Given the description of an element on the screen output the (x, y) to click on. 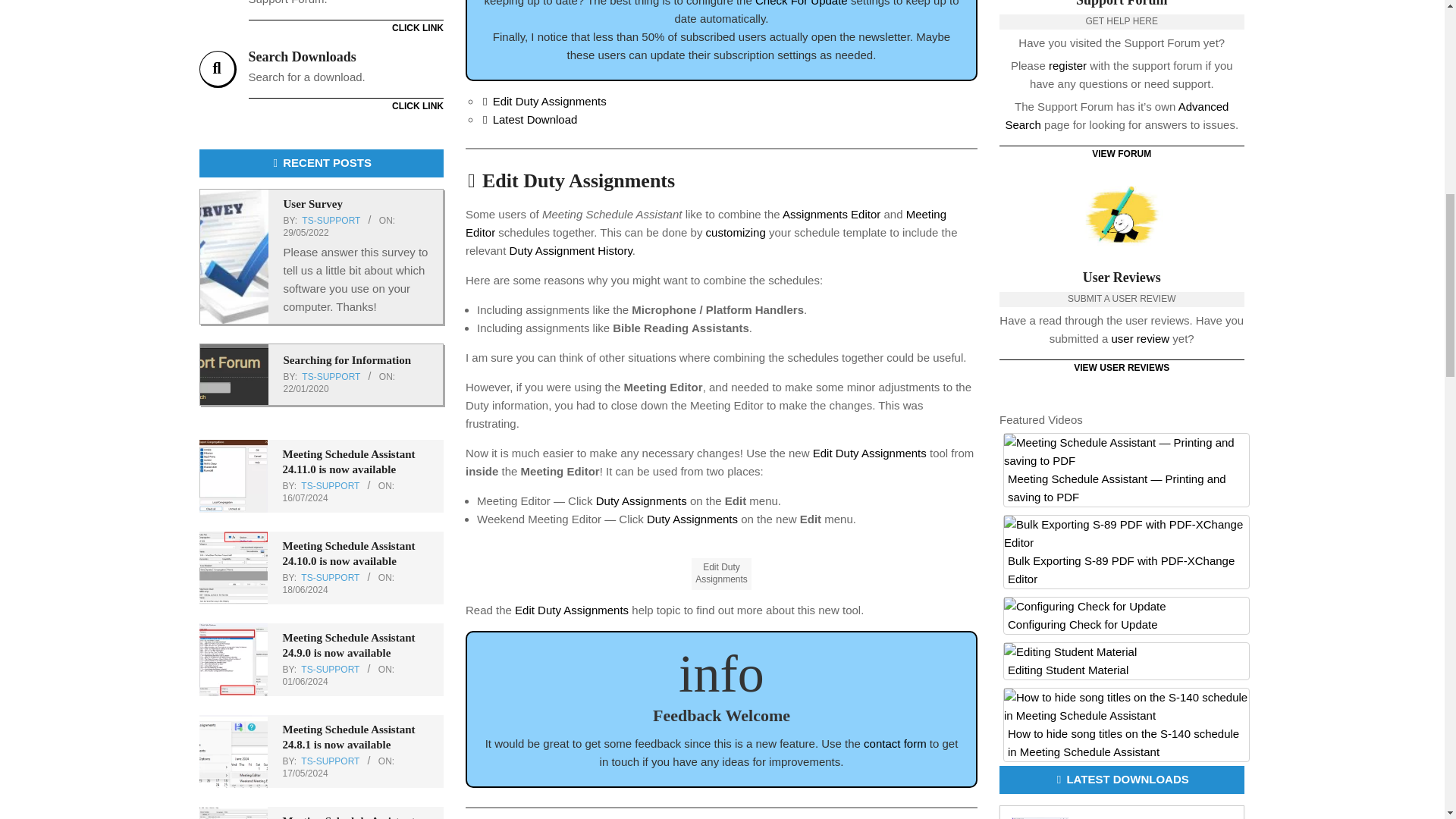
Tuesday, July 16, 2024, 8:42 pm (304, 498)
Posts by TS-Support (330, 485)
Sunday, May 29, 2022, 11:02 am (306, 232)
Posts by TS-Support (720, 110)
Posts by TS-Support (330, 577)
Wednesday, January 22, 2020, 9:23 pm (330, 220)
Posts by TS-Support (306, 388)
